Given the description of an element on the screen output the (x, y) to click on. 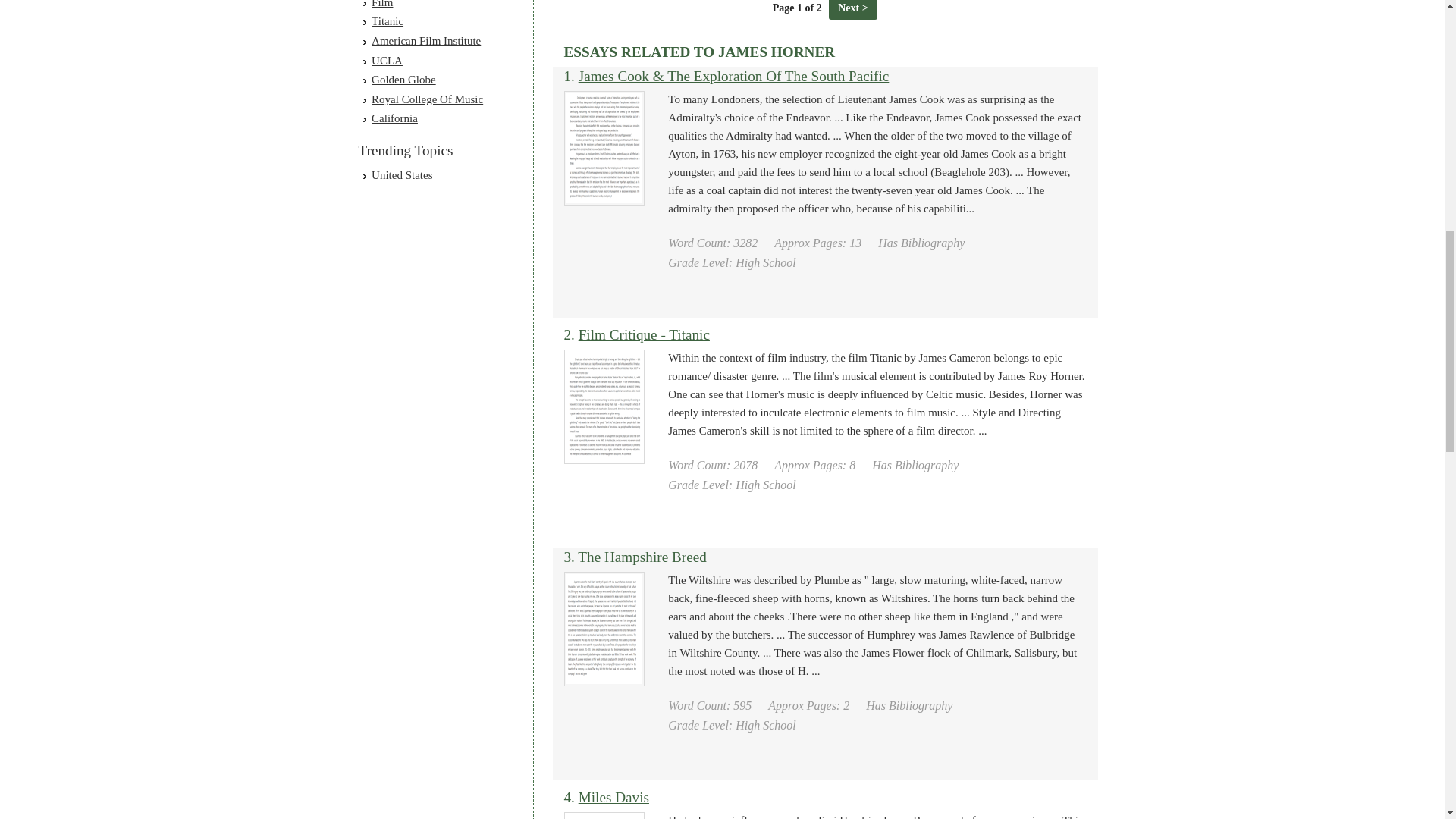
UCLA (387, 60)
Golden Globe (403, 79)
Film (382, 4)
Titanic (387, 21)
American Film Institute (425, 40)
United States (401, 174)
Royal College Of Music (427, 99)
California (394, 118)
